Given the description of an element on the screen output the (x, y) to click on. 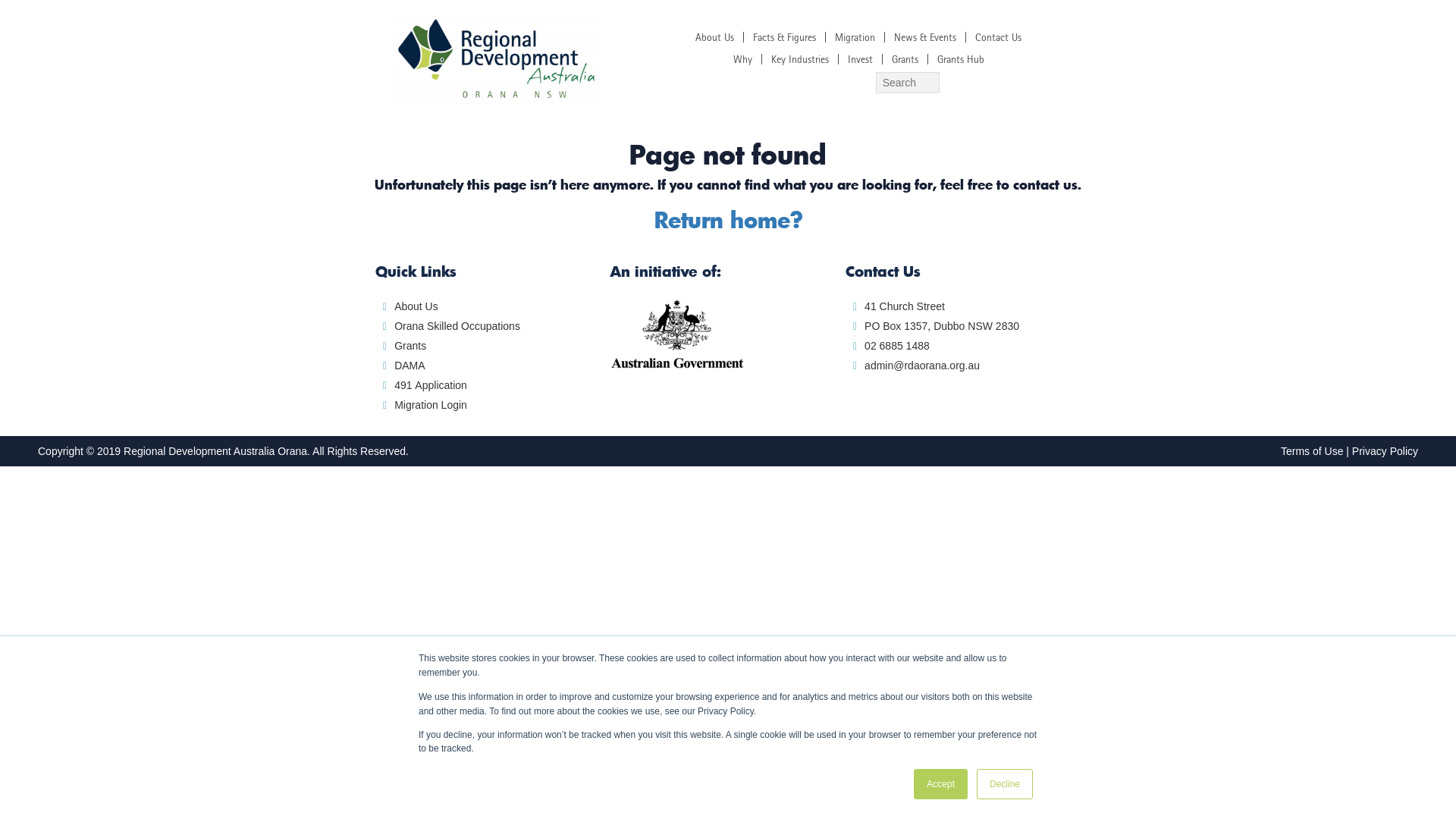
Decline Element type: text (1004, 783)
Contact Us Element type: text (998, 37)
491 Application Element type: text (430, 385)
Key Industries Element type: text (799, 59)
Migration Element type: text (854, 37)
Privacy Policy Element type: text (1385, 451)
Grants Element type: text (410, 345)
Return home? Element type: text (727, 219)
Why Element type: text (742, 59)
Facts & Figures Element type: text (784, 37)
News & Events Element type: text (924, 37)
Grants Element type: text (904, 59)
Migration Login Element type: text (430, 404)
About Us Element type: text (714, 37)
About Us Element type: text (416, 306)
Orana Skilled Occupations Element type: text (457, 326)
Terms of Use Element type: text (1311, 451)
DAMA Element type: text (409, 365)
Accept Element type: text (940, 783)
Grants Hub Element type: text (960, 59)
Invest Element type: text (860, 59)
